Given the description of an element on the screen output the (x, y) to click on. 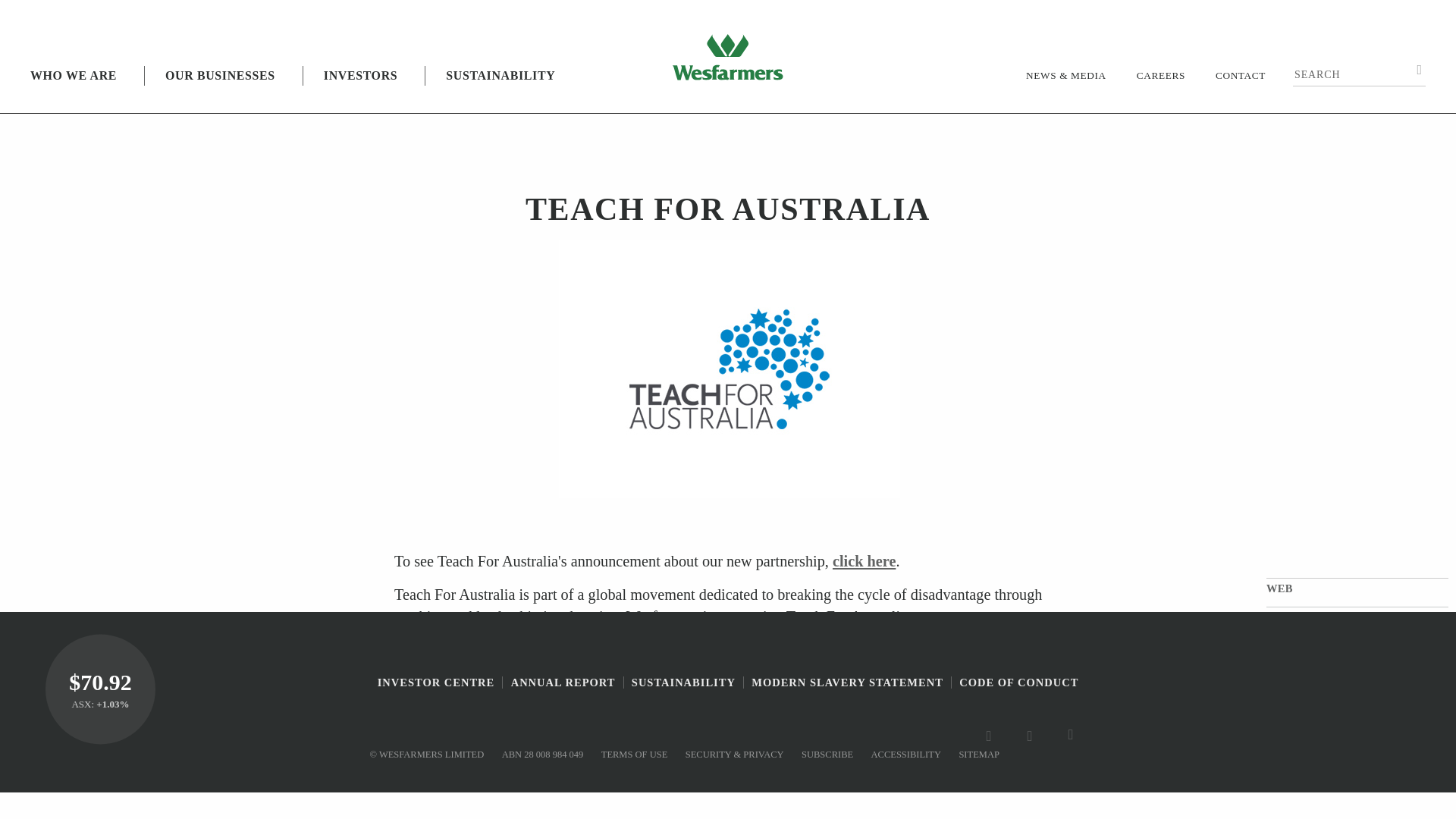
Visit our Vimeo Channel (1035, 735)
Investor Centre (100, 688)
OUR BUSINESSES (220, 89)
Wesfarmers Home (727, 56)
WHO WE ARE (73, 89)
Search input (1358, 73)
INVESTORS (360, 89)
Visit our LinkedIn page (1076, 735)
Visit our Twitter page (994, 735)
